Given the description of an element on the screen output the (x, y) to click on. 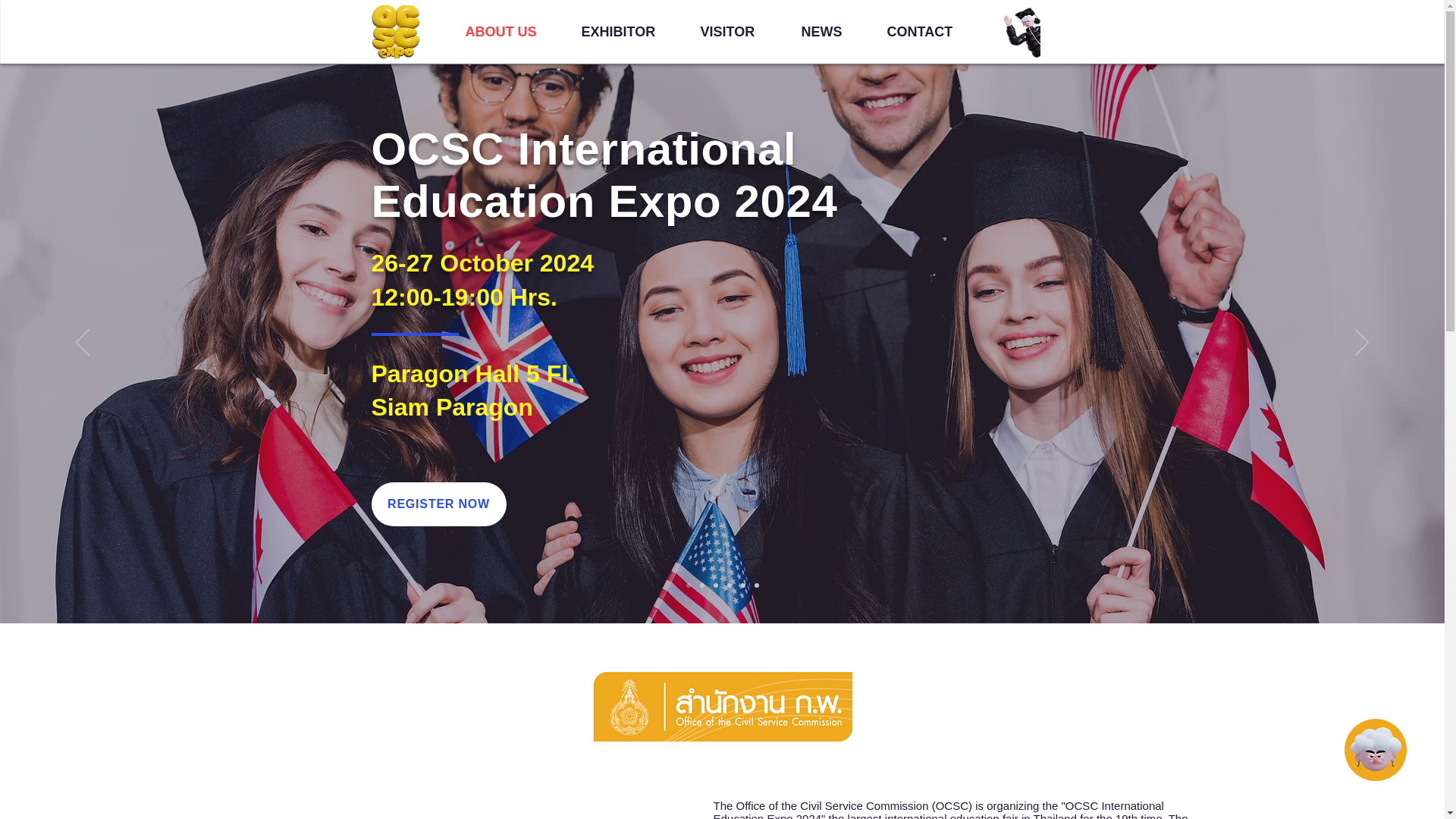
CONTACT (932, 31)
VISITOR (738, 31)
ABOUT US (510, 31)
REGISTER NOW (438, 504)
EXHIBITOR (629, 31)
NEWS (833, 31)
